Given the description of an element on the screen output the (x, y) to click on. 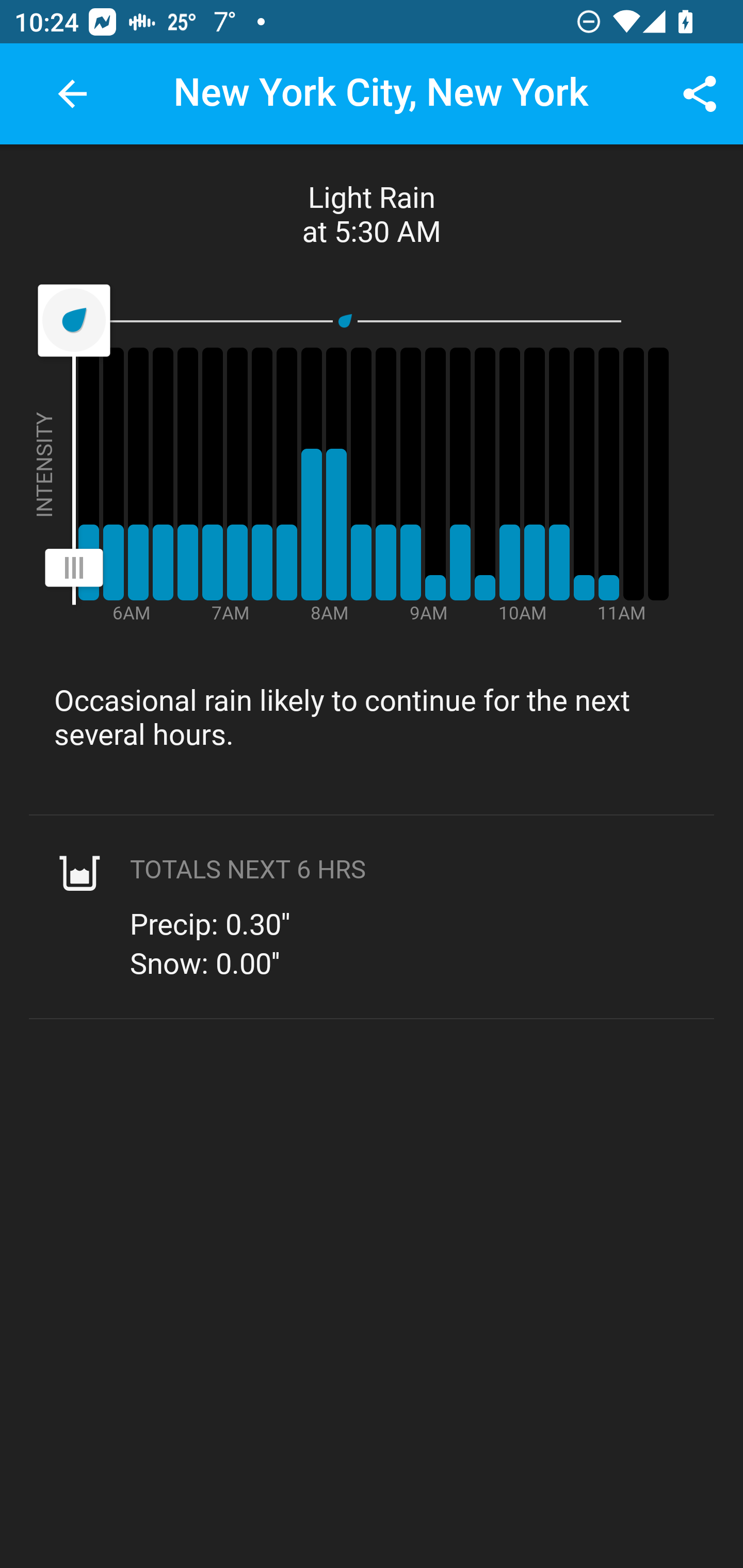
back (71, 93)
Share (699, 93)
